Given the description of an element on the screen output the (x, y) to click on. 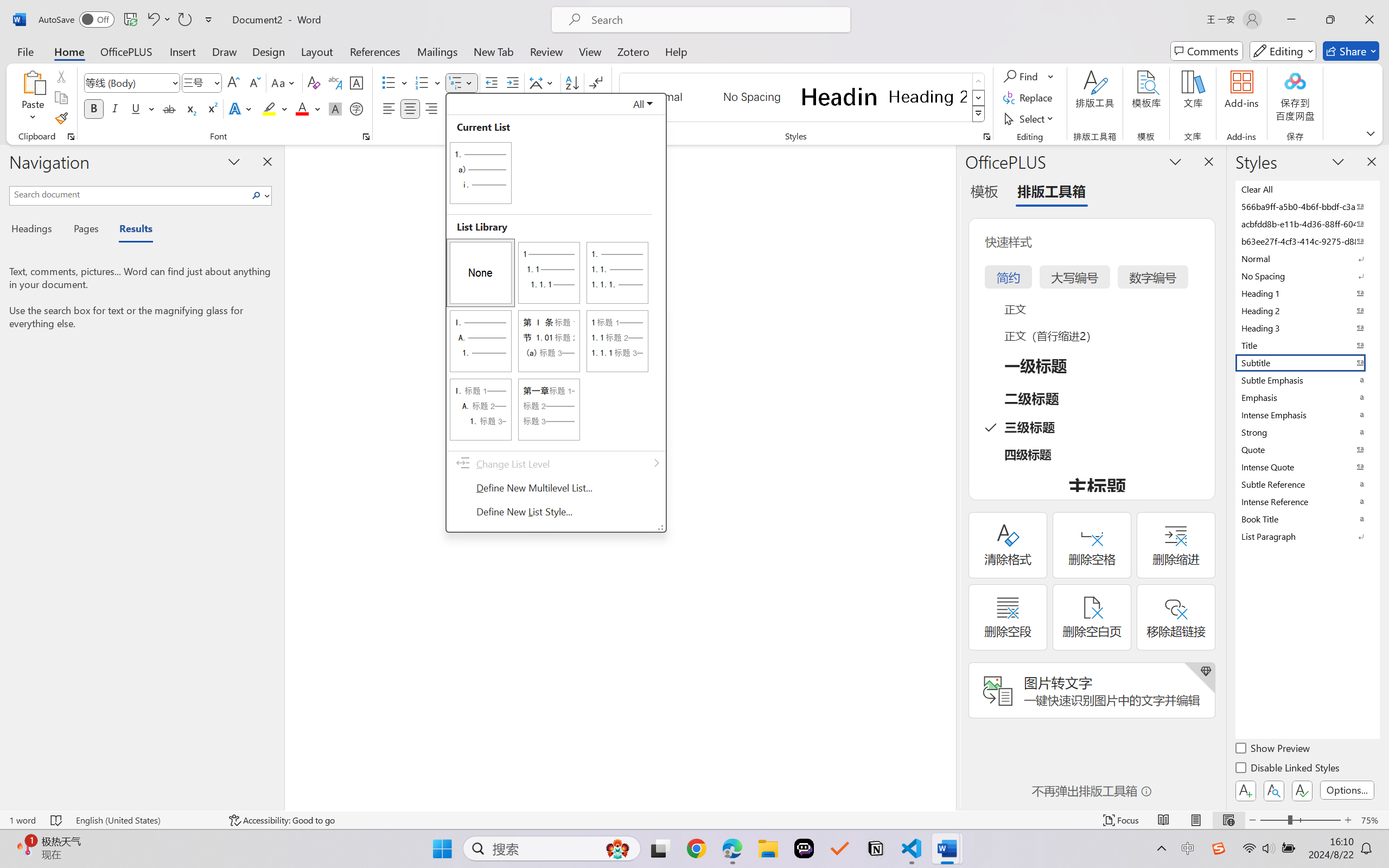
Text Highlight Color (274, 108)
Subtle Reference (1306, 484)
Align Left (388, 108)
Poe (804, 848)
Restore Down (1330, 19)
Task Pane Options (1175, 161)
Superscript (210, 108)
Text Effects and Typography (241, 108)
Headings (35, 229)
Repeat Doc Close (184, 19)
